Given the description of an element on the screen output the (x, y) to click on. 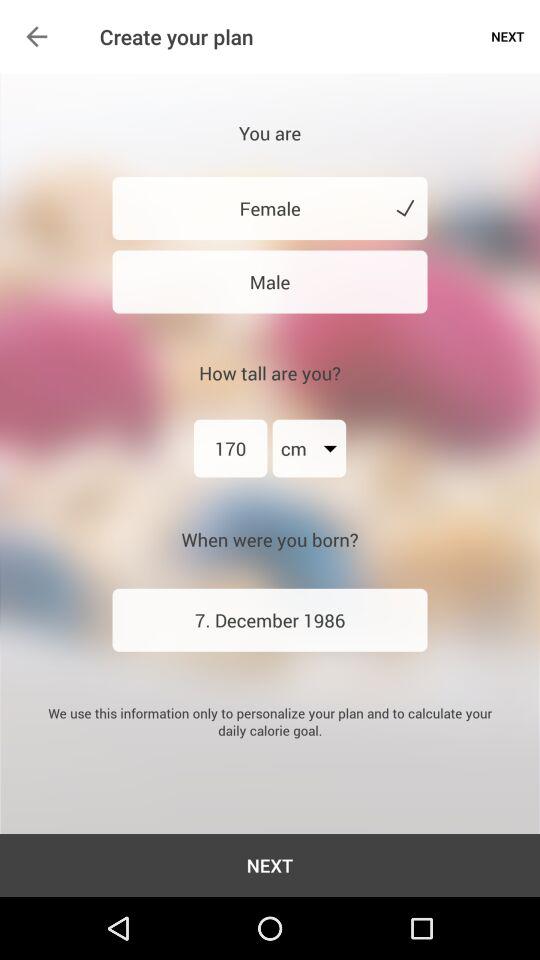
turn on cm item (309, 448)
